Given the description of an element on the screen output the (x, y) to click on. 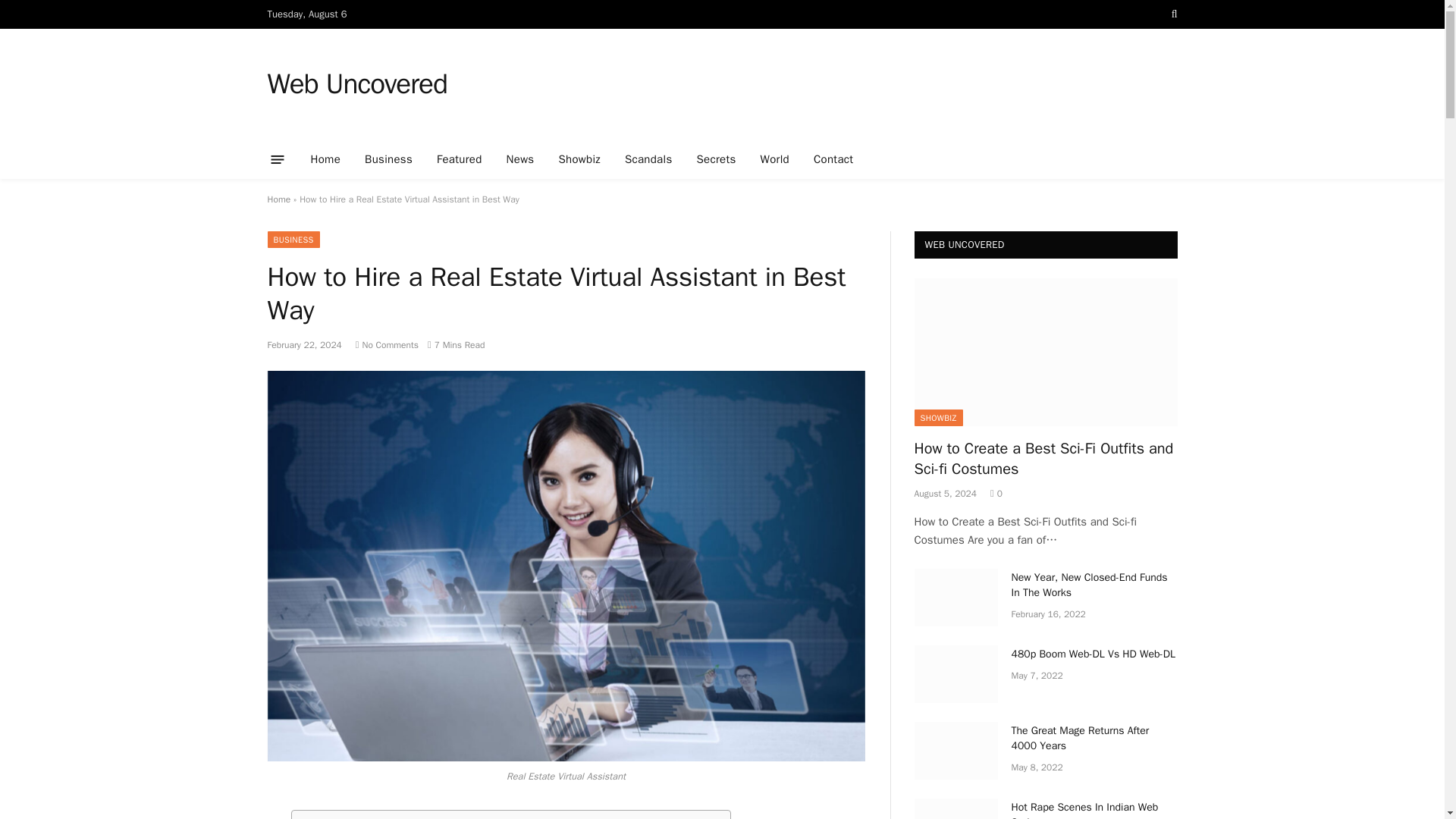
News (521, 159)
Home (277, 199)
Featured (460, 159)
BUSINESS (292, 239)
No Comments (387, 345)
Contact (833, 159)
Web Uncovered (356, 84)
Secrets (716, 159)
Web Uncovered (356, 84)
Showbiz (578, 159)
Scandals (648, 159)
Home (325, 159)
World (775, 159)
Business (388, 159)
